Given the description of an element on the screen output the (x, y) to click on. 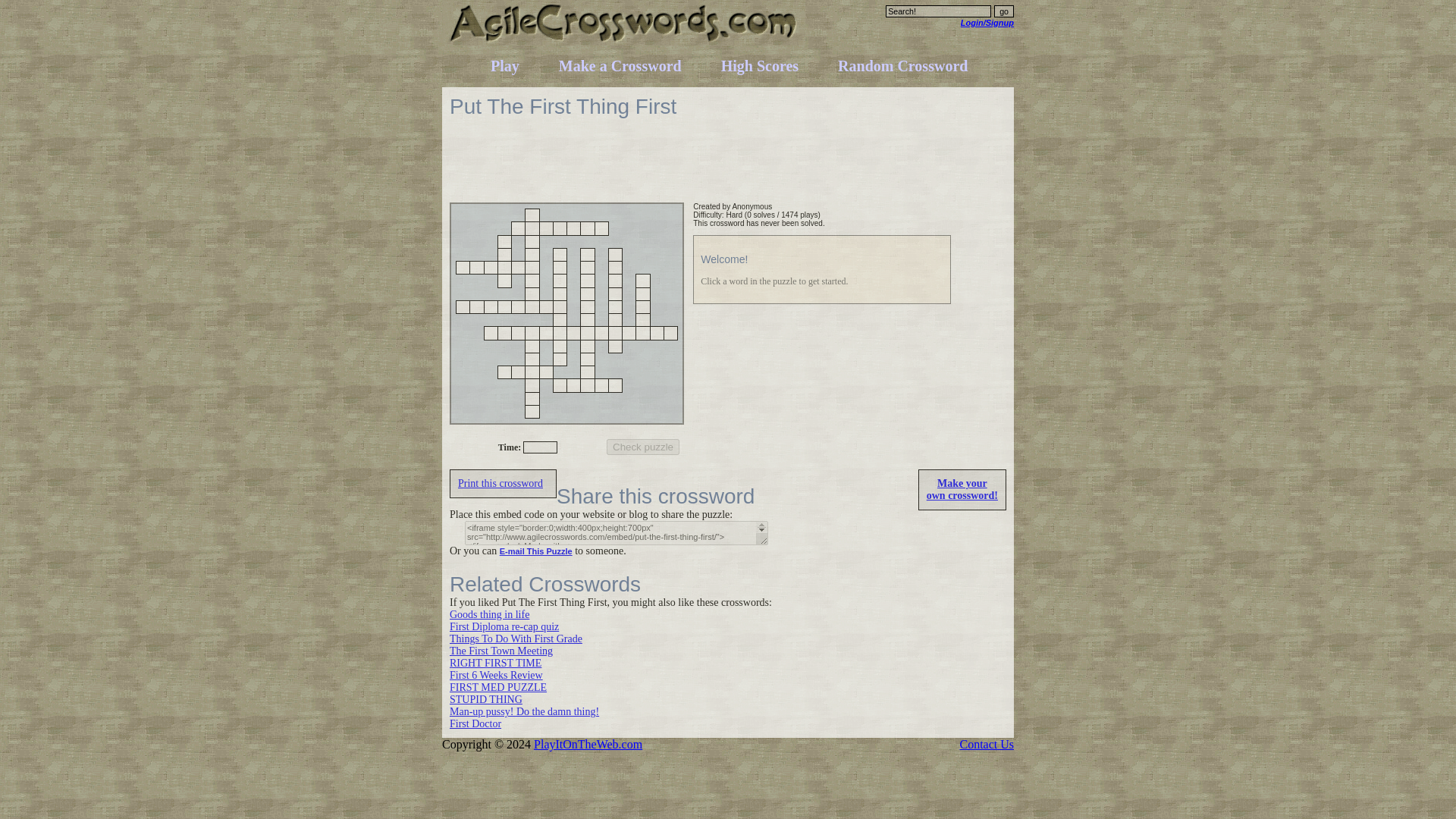
go (1003, 10)
FIRST MED PUZZLE (498, 686)
Man-up pussy! Do the damn thing! (523, 711)
Play a Random Crossword Puzzle (903, 65)
go (1003, 10)
Goods thing in life (489, 614)
Contact Us (986, 744)
The First Town Meeting (501, 650)
Make a Crossword (620, 65)
PlayItOnTheWeb.com (588, 744)
